Given the description of an element on the screen output the (x, y) to click on. 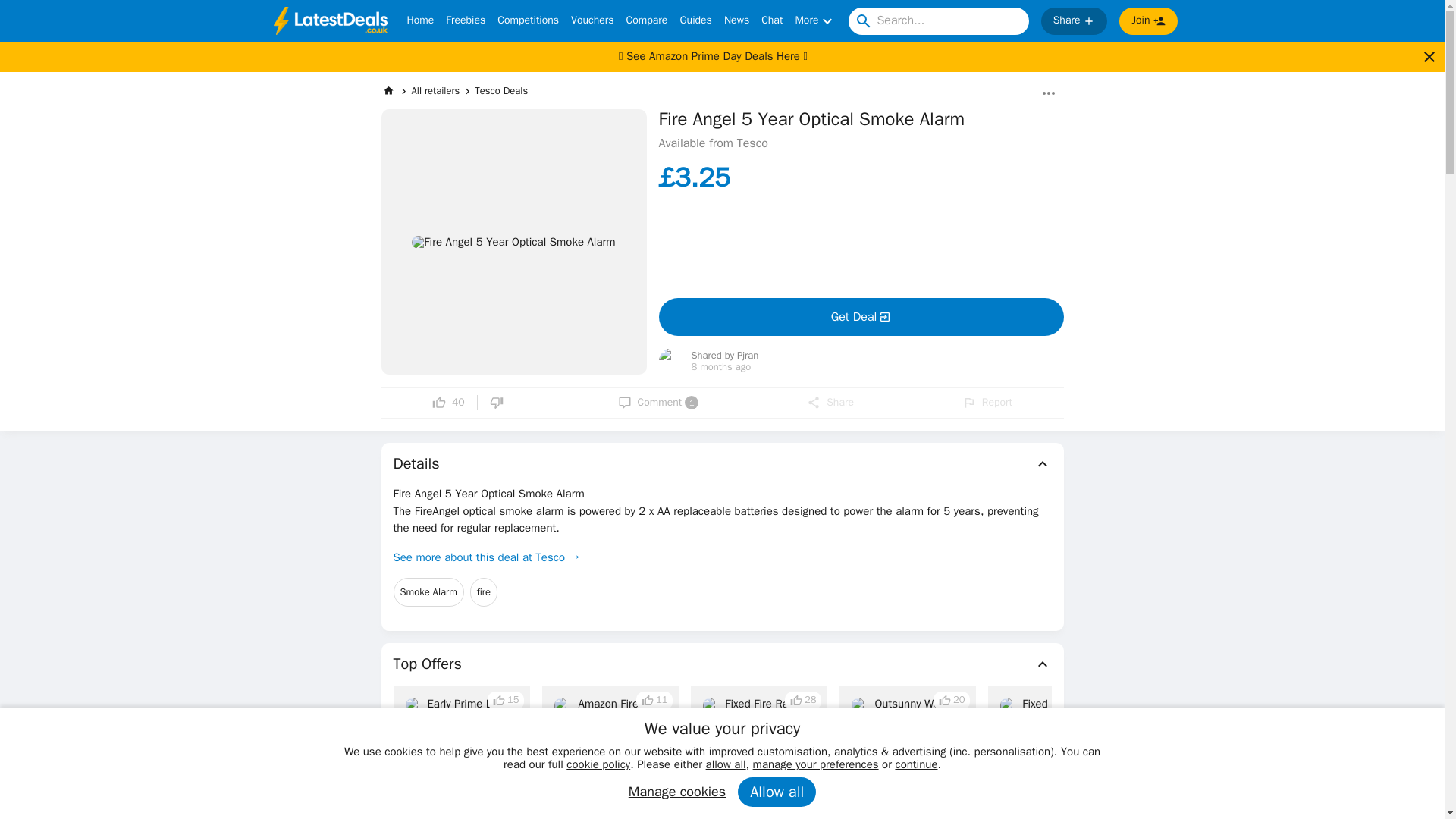
Top Offers (722, 664)
Tesco Deals (500, 90)
Join (1147, 21)
News (736, 21)
Guides (695, 21)
Freebies (464, 21)
Competitions (528, 21)
Compare (647, 21)
Shared by Pjran (724, 355)
See more offers (1329, 785)
fire (483, 592)
Report (986, 402)
Get Deal (860, 316)
40 (448, 402)
More (814, 21)
